Given the description of an element on the screen output the (x, y) to click on. 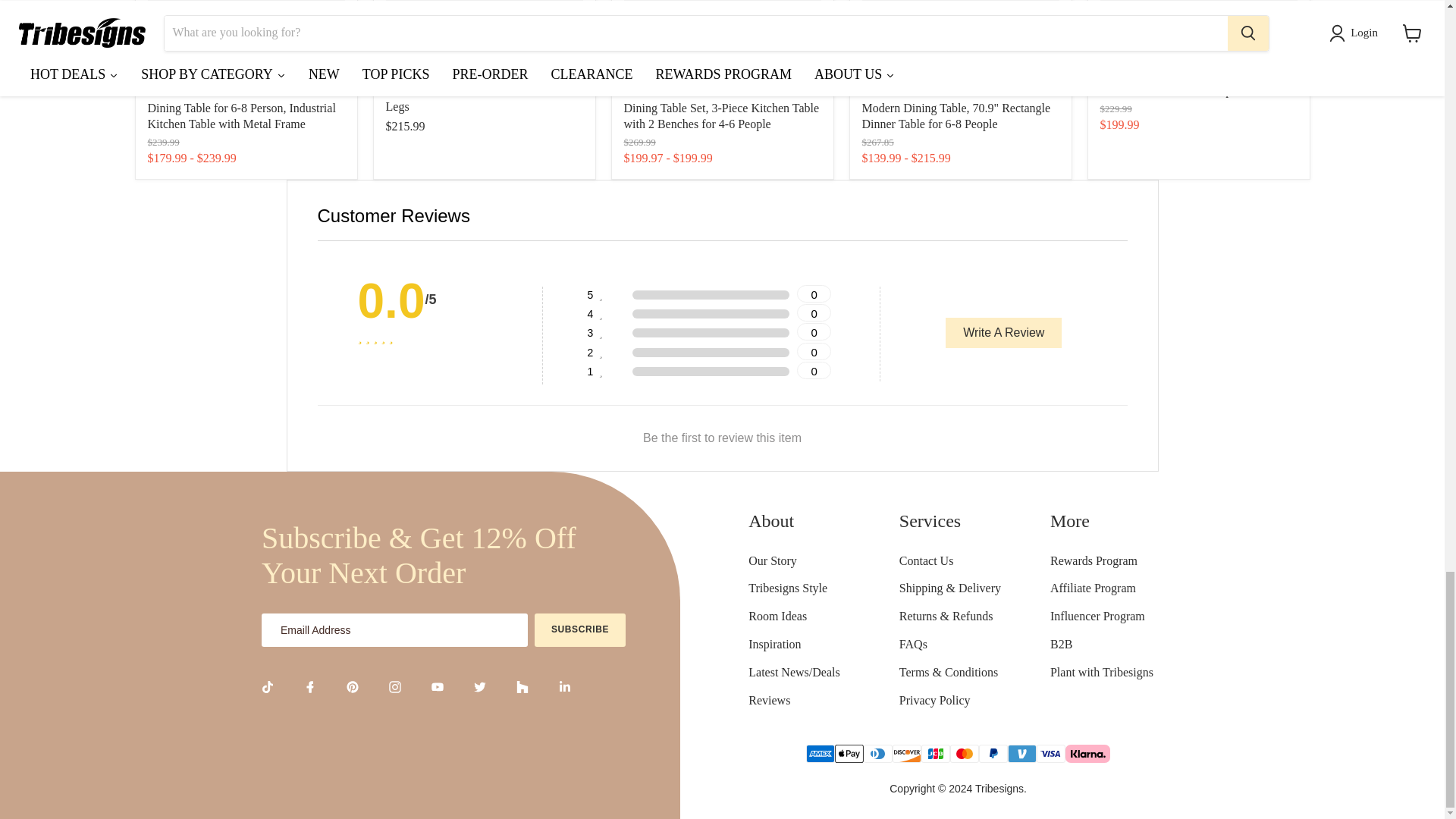
Room Ideas (794, 616)
Our Story (794, 561)
Tribesigns Style (794, 588)
